Given the description of an element on the screen output the (x, y) to click on. 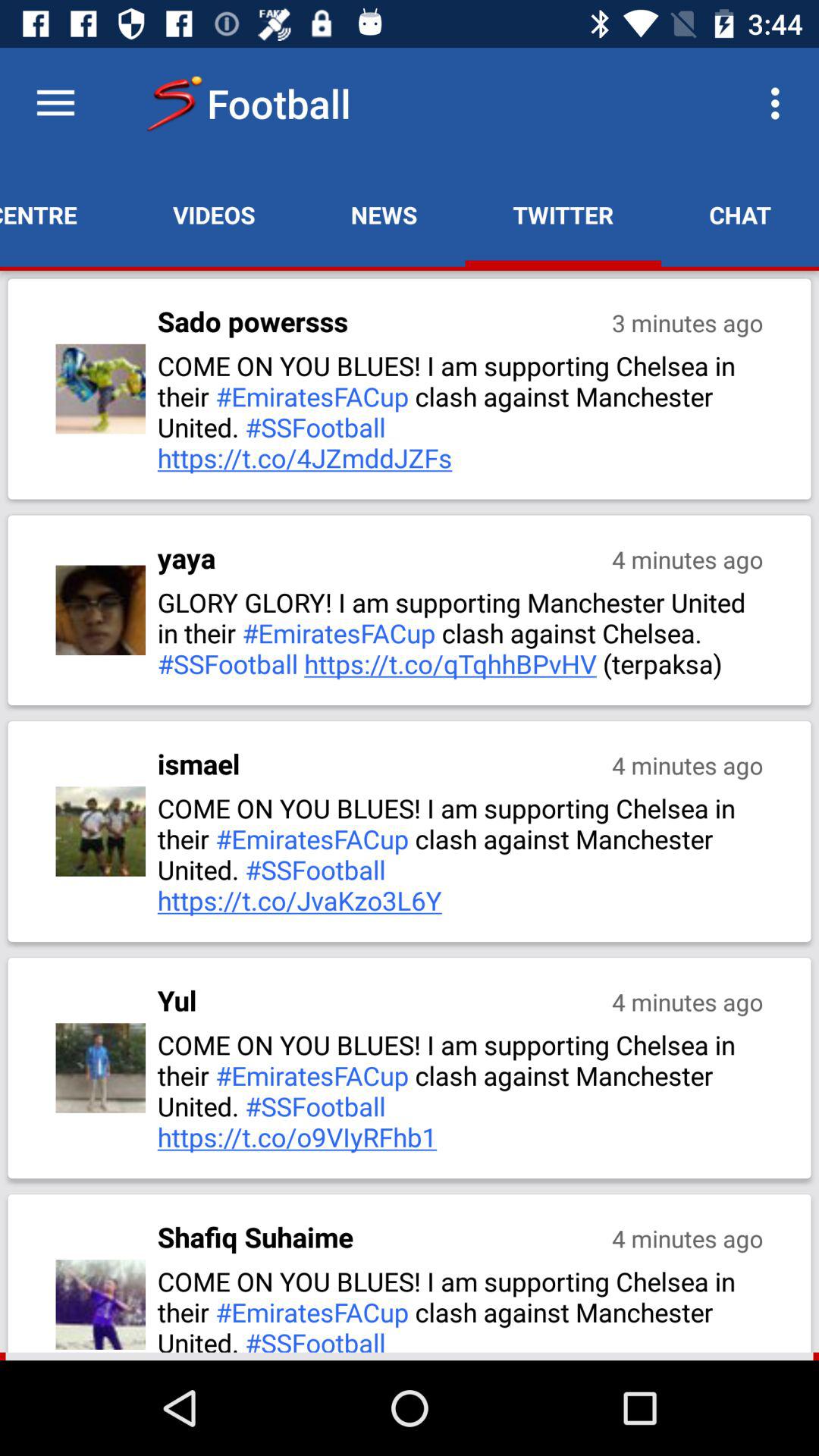
launch item above chat item (779, 103)
